Given the description of an element on the screen output the (x, y) to click on. 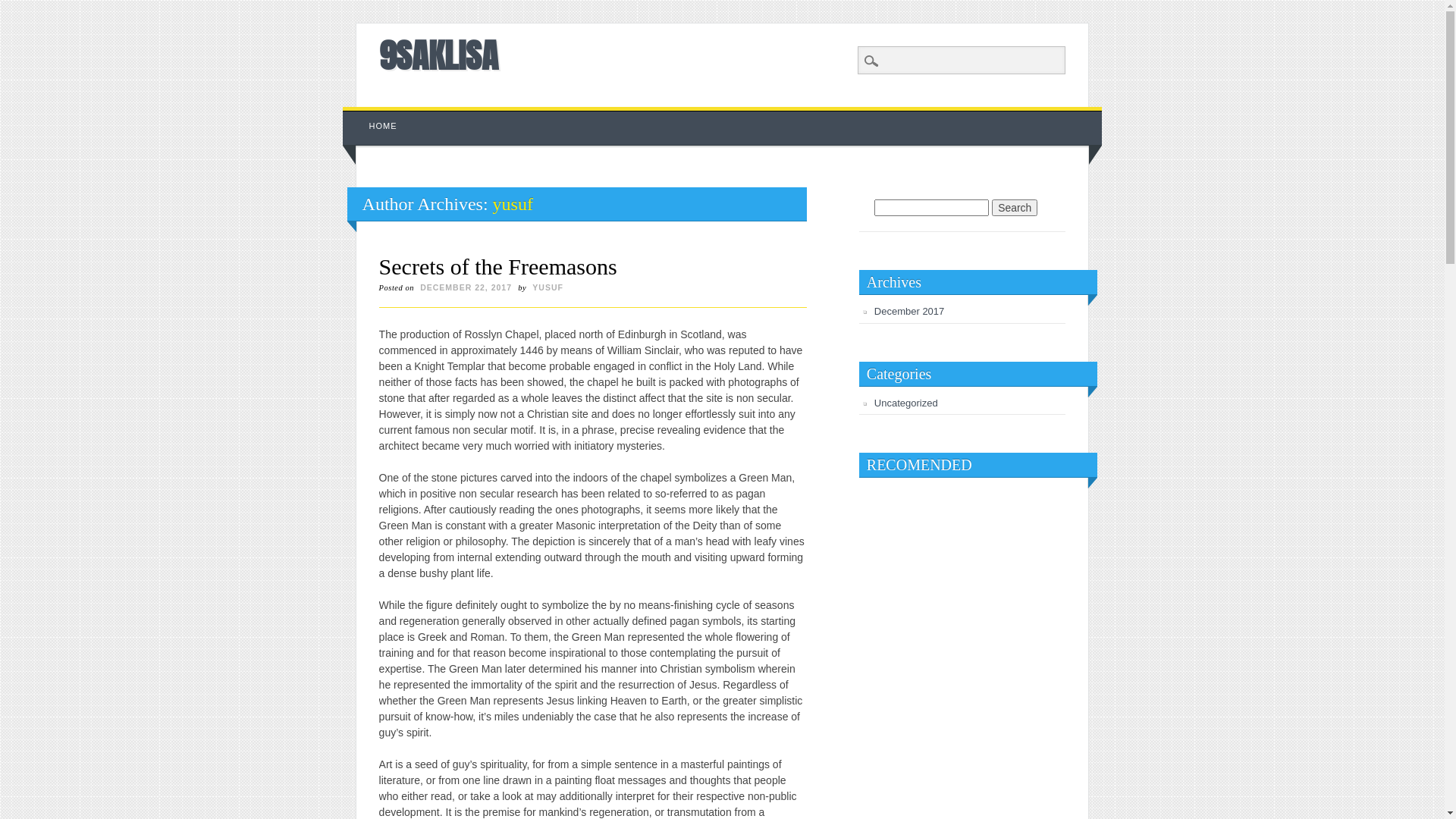
December 2017 Element type: text (909, 310)
Search Element type: text (22, 8)
YUSUF Element type: text (547, 286)
HOME Element type: text (383, 125)
9SAKLISA Element type: text (438, 55)
Secrets of the Freemasons Element type: text (498, 266)
DECEMBER 22, 2017 Element type: text (465, 286)
yusuf Element type: text (512, 203)
Skip to content Element type: text (377, 114)
Search Element type: text (1014, 207)
Uncategorized Element type: text (906, 402)
